Given the description of an element on the screen output the (x, y) to click on. 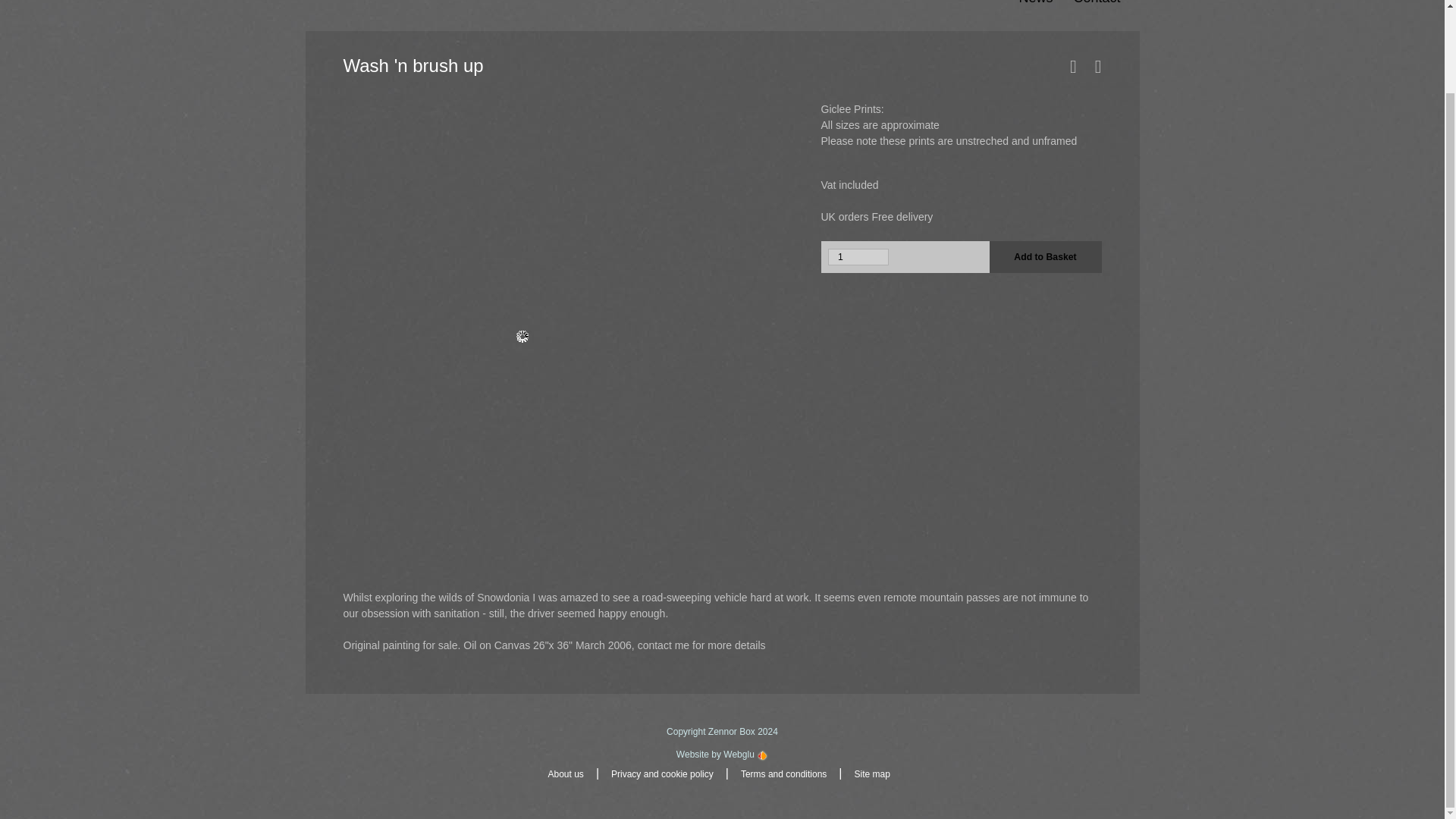
1 (858, 256)
Add to Basket (1044, 256)
News (1024, 15)
Contact (1085, 15)
